Given the description of an element on the screen output the (x, y) to click on. 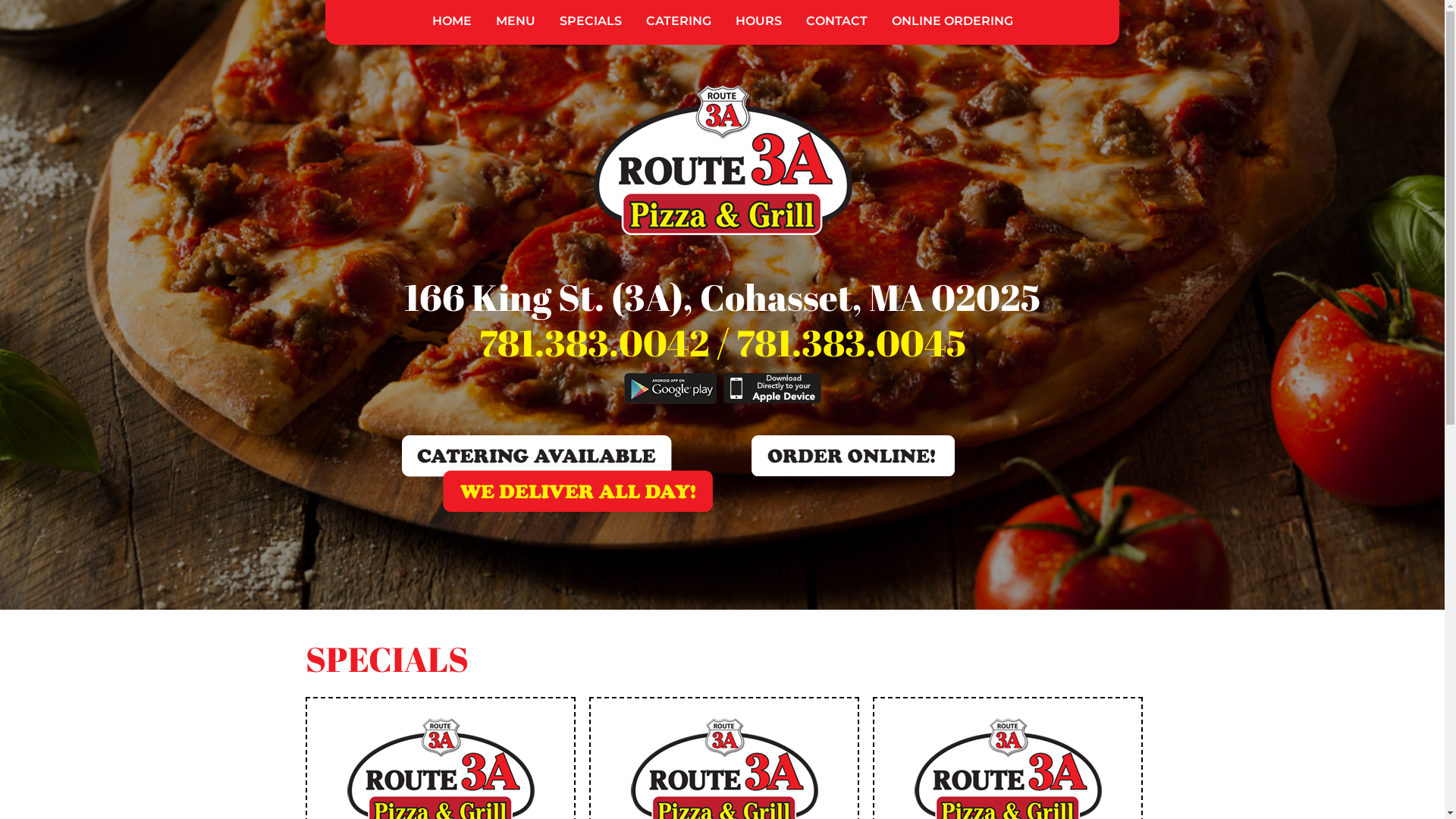
ONLINE ORDERING Element type: text (952, 21)
HOURS Element type: text (758, 21)
HOME Element type: text (451, 21)
SPECIALS Element type: text (590, 21)
CONTACT Element type: text (835, 21)
781.383.0045 Element type: text (850, 342)
MENU Element type: text (515, 21)
CATERING Element type: text (678, 21)
781.383.0042 Element type: text (594, 342)
